Given the description of an element on the screen output the (x, y) to click on. 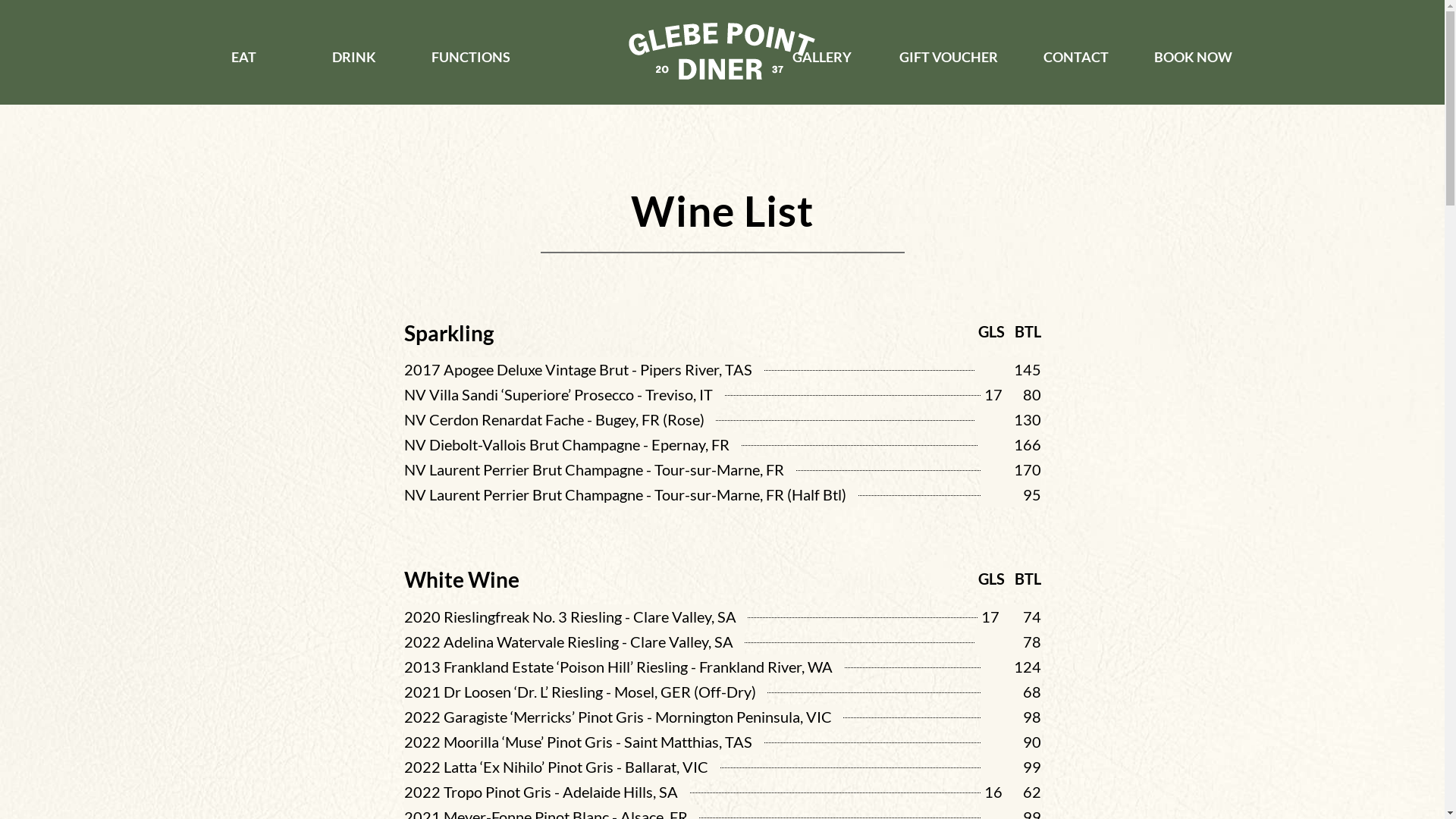
GPD-Glebe-Point-Diner-Logo (1) Element type: hover (721, 51)
DRINK Element type: text (353, 56)
GIFT VOUCHER Element type: text (948, 56)
GALLERY Element type: text (821, 56)
FUNCTIONS Element type: text (470, 56)
BOOK NOW Element type: text (1193, 56)
EAT Element type: text (243, 56)
CONTACT Element type: text (1075, 56)
